Given the description of an element on the screen output the (x, y) to click on. 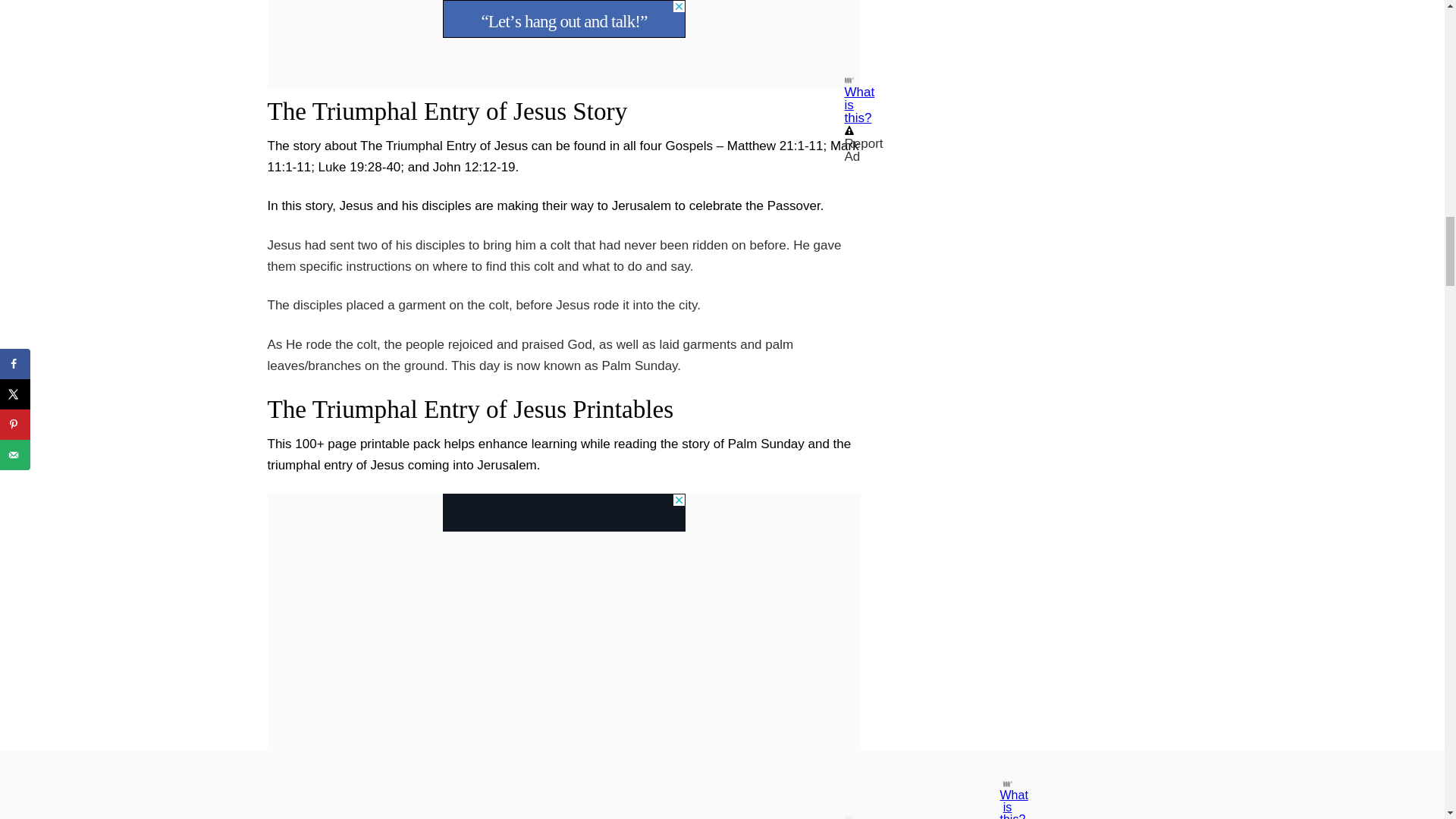
3rd party ad content (563, 512)
